Given the description of an element on the screen output the (x, y) to click on. 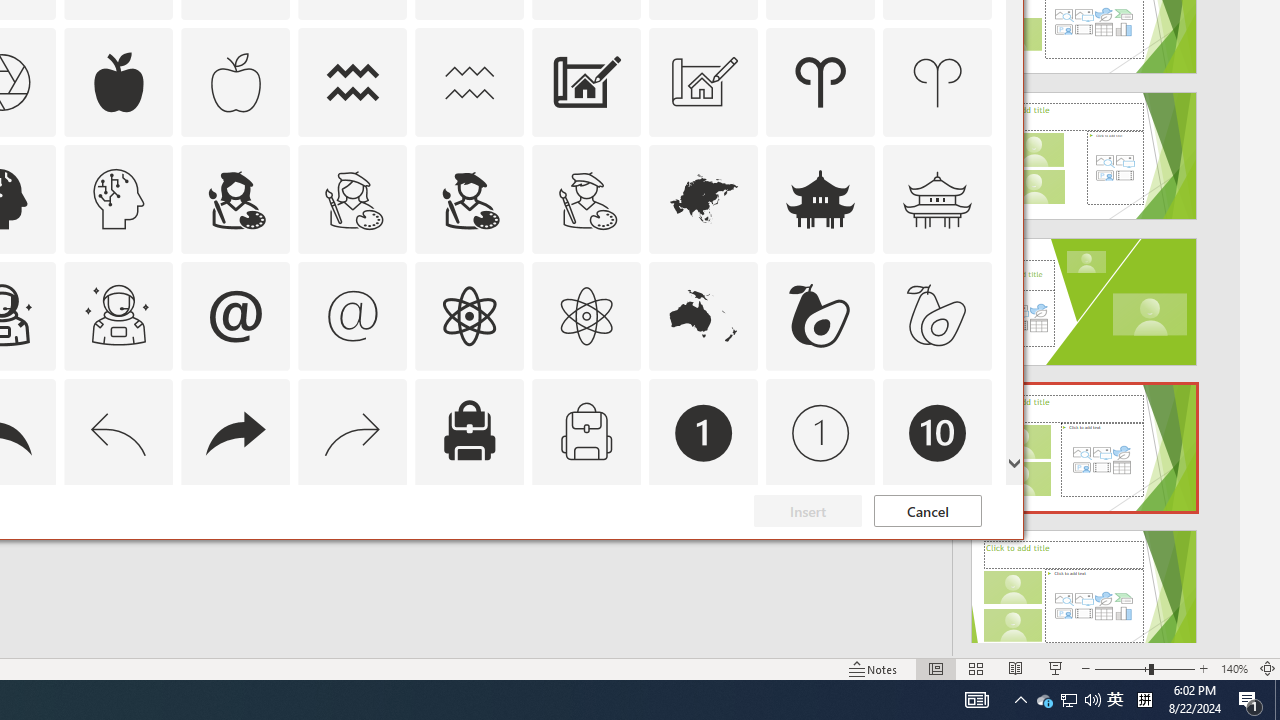
AutomationID: Icons_Badge7_M (469, 550)
Cancel (927, 511)
AutomationID: Icons_ArtistFemale_M (353, 198)
AutomationID: Icons_Avocado (820, 316)
Zoom 140% (1234, 668)
AutomationID: Icons_Badge6 (118, 550)
